Given the description of an element on the screen output the (x, y) to click on. 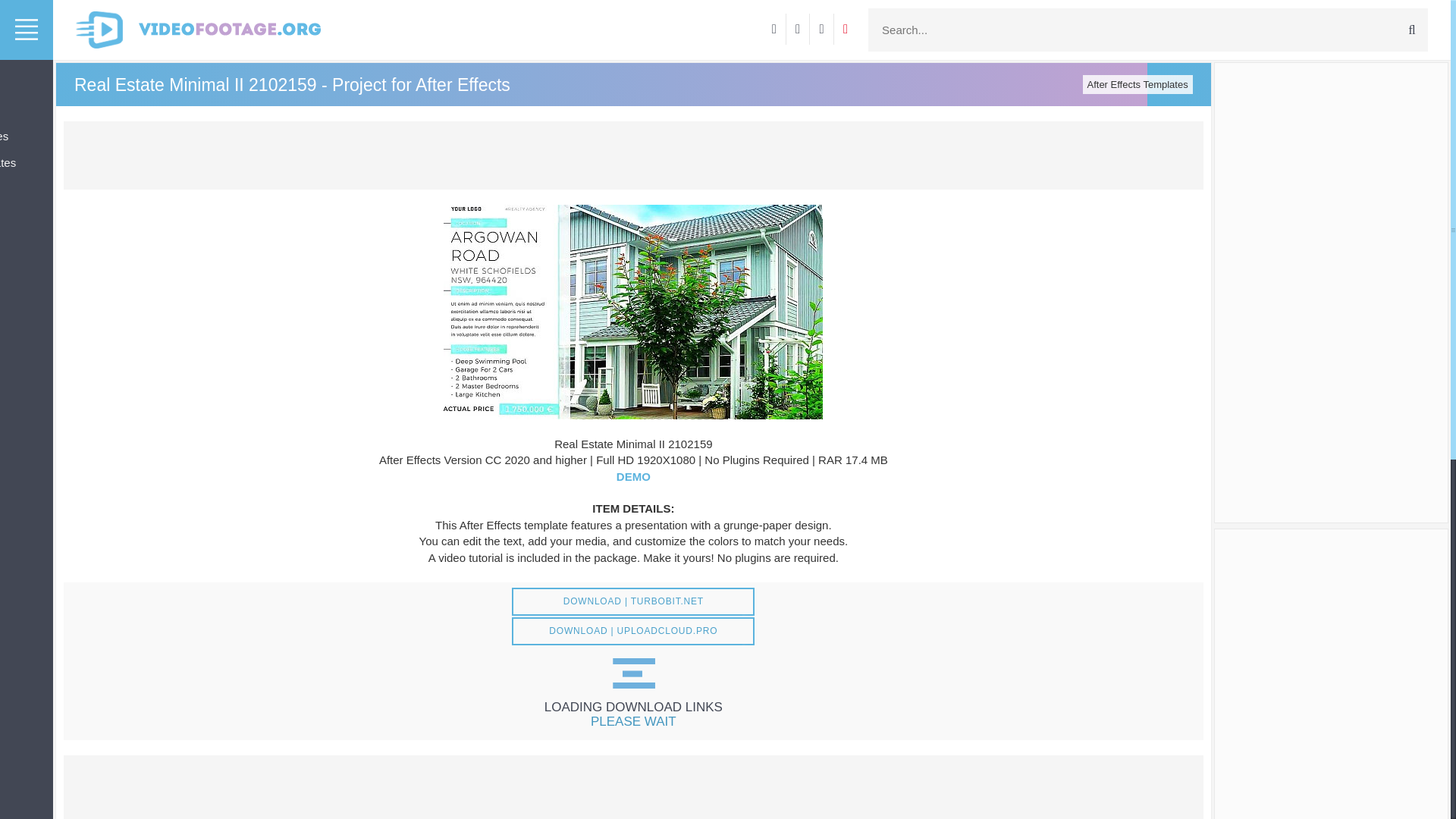
DEMO (632, 476)
Advertisement (632, 787)
Apple Motion, FCPX Templates (26, 162)
After Effects Templates (1137, 84)
ProShow Producer Templates (26, 135)
Advertisement (632, 155)
